Given the description of an element on the screen output the (x, y) to click on. 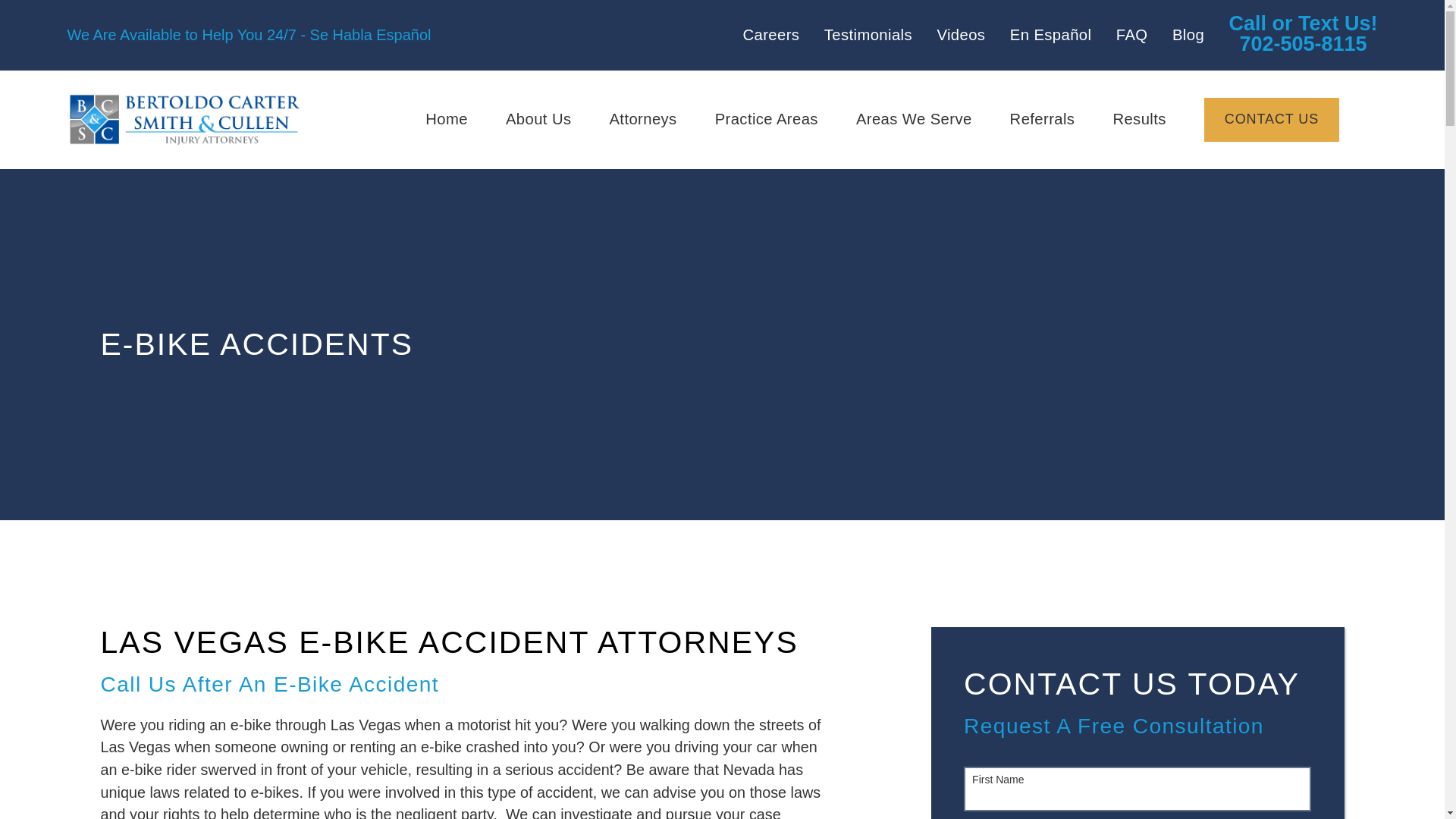
About Us (538, 119)
702-505-8115 (1302, 34)
Practice Areas (766, 119)
Videos (960, 34)
Careers (770, 34)
Blog (1188, 34)
Attorneys (642, 119)
FAQ (1132, 34)
Home (183, 119)
Testimonials (868, 34)
